Given the description of an element on the screen output the (x, y) to click on. 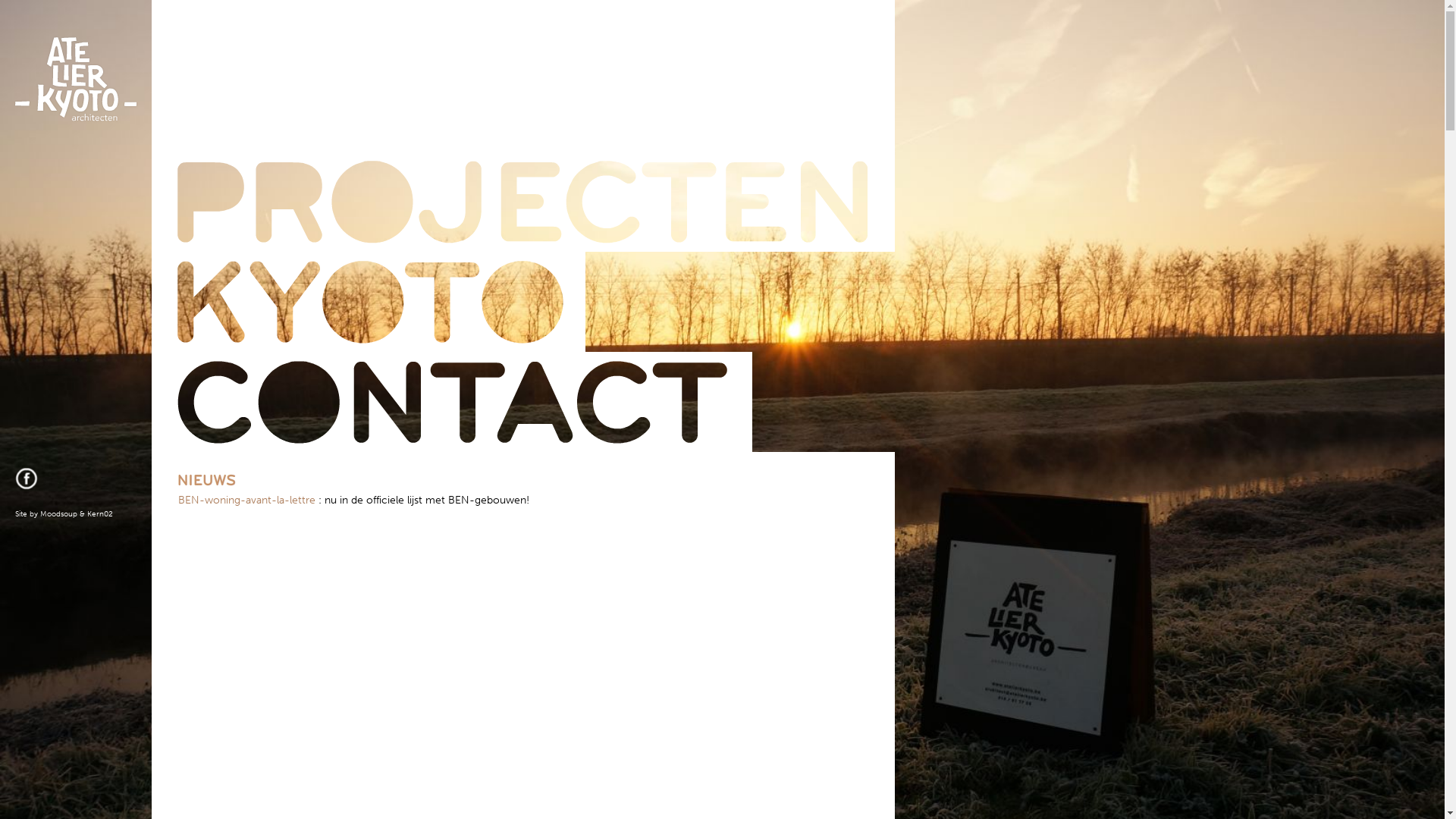
Kern02 Element type: text (99, 513)
Moodsoup Element type: text (58, 513)
BEN-woning-avant-la-lettre Element type: text (246, 499)
